Given the description of an element on the screen output the (x, y) to click on. 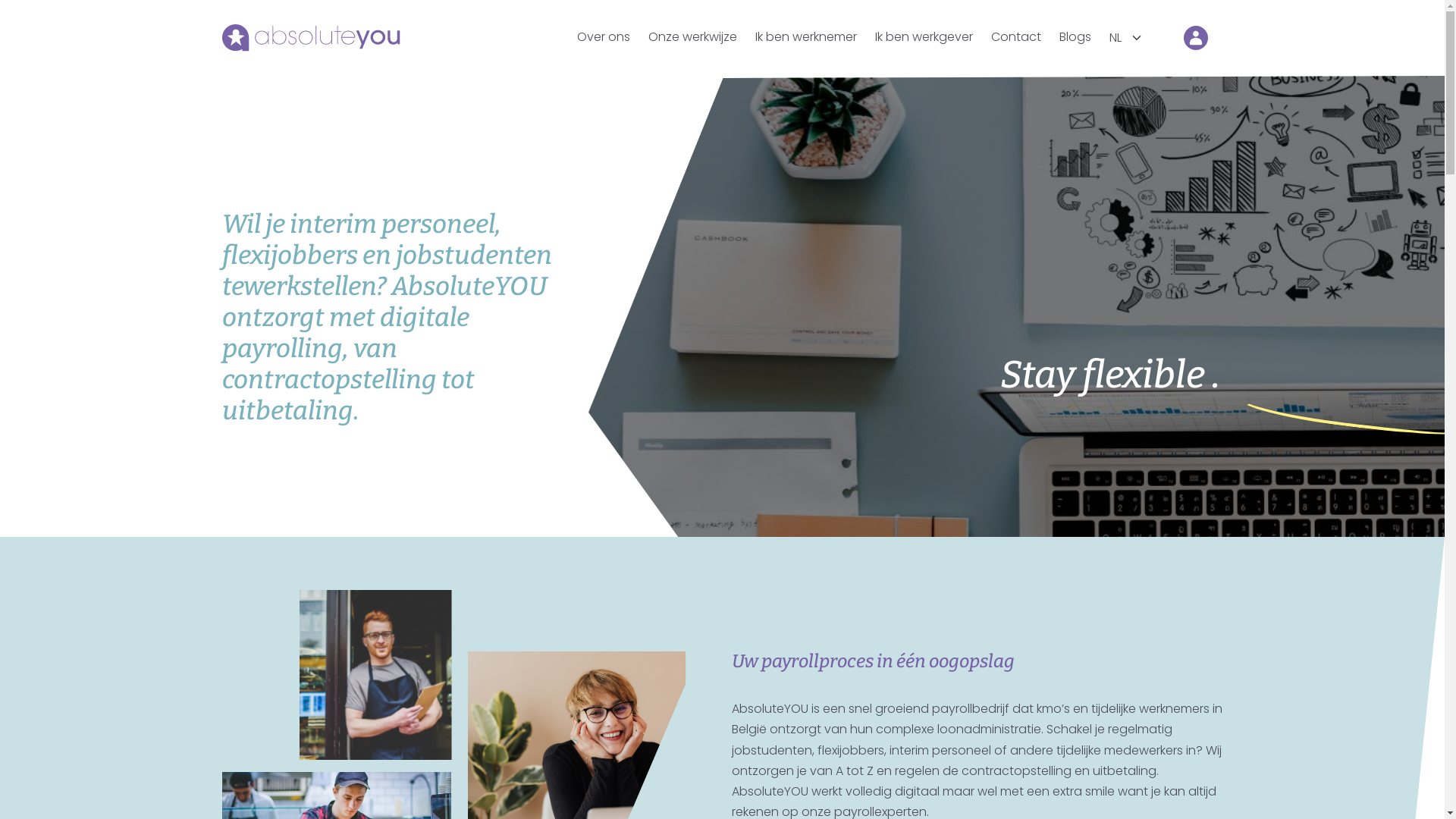
Onze werkwijze Element type: text (691, 36)
Contact Element type: text (1014, 36)
Blogs Element type: text (1074, 36)
Ik ben werknemer Element type: text (805, 36)
Home Element type: hover (310, 37)
Over ons Element type: text (602, 36)
Ik ben werkgever Element type: text (923, 36)
Inloggen Element type: hover (1194, 37)
